Given the description of an element on the screen output the (x, y) to click on. 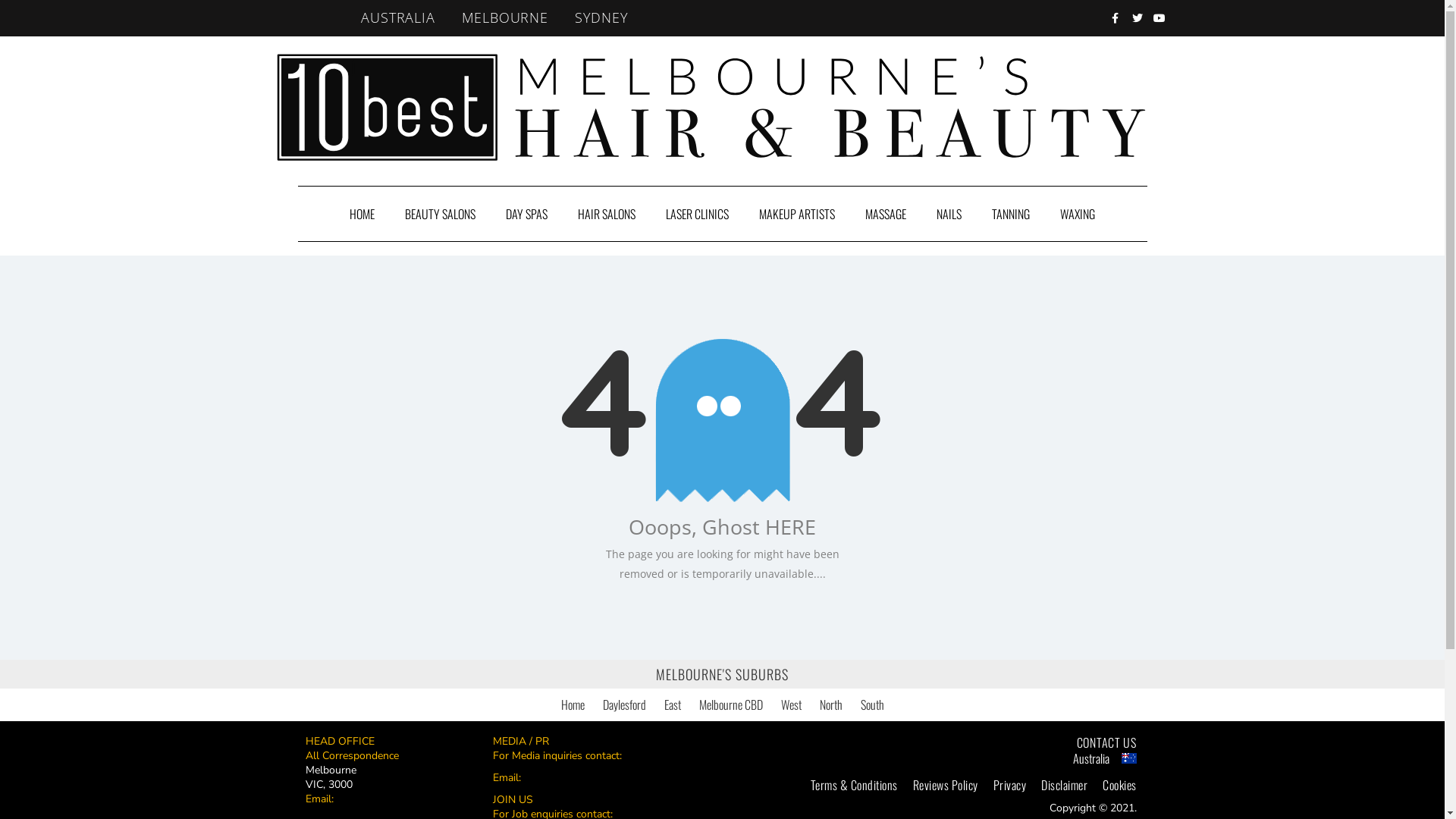
MASSAGE Element type: text (885, 213)
BEAUTY SALONS Element type: text (439, 213)
SYDNEY Element type: text (601, 18)
NAILS Element type: text (948, 213)
HAIR SALONS Element type: text (606, 213)
WAXING Element type: text (1077, 213)
AUSTRALIA Element type: text (397, 18)
MELBOURNE Element type: text (504, 18)
DAY SPAS Element type: text (526, 213)
MAKEUP ARTISTS Element type: text (796, 213)
TANNING Element type: text (1010, 213)
HOME Element type: text (361, 213)
LASER CLINICS Element type: text (696, 213)
